Given the description of an element on the screen output the (x, y) to click on. 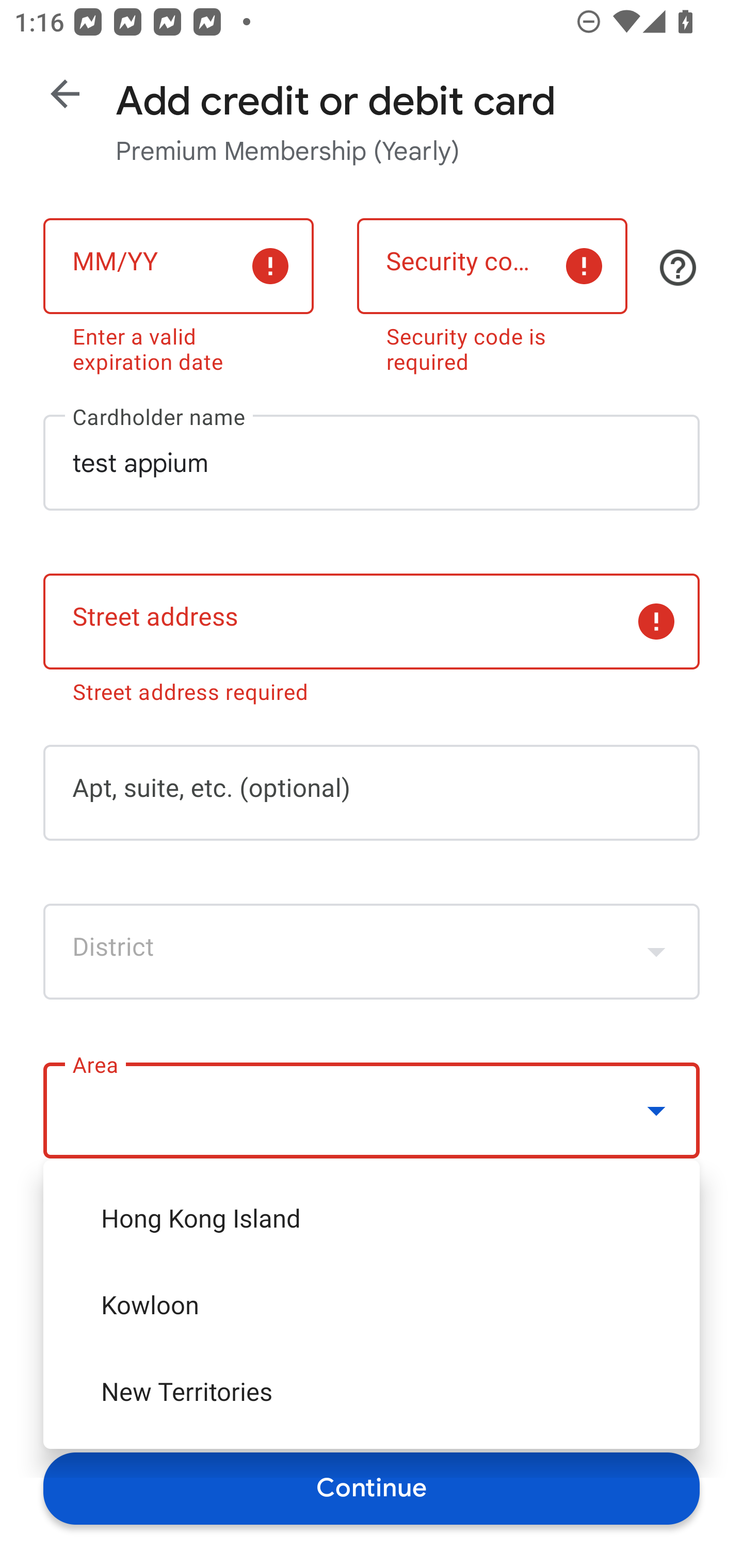
Back (64, 93)
Security code Error Security code is required (492, 292)
Expiration date, 2 digit month, 2 digit year (178, 265)
Security code (492, 265)
Security code help (677, 268)
test appium (371, 462)
Street address (371, 621)
Apt, suite, etc. (optional) (371, 792)
District (371, 951)
Show dropdown menu (655, 951)
Area (371, 1110)
Show dropdown menu (655, 1110)
Continue (371, 1487)
